Given the description of an element on the screen output the (x, y) to click on. 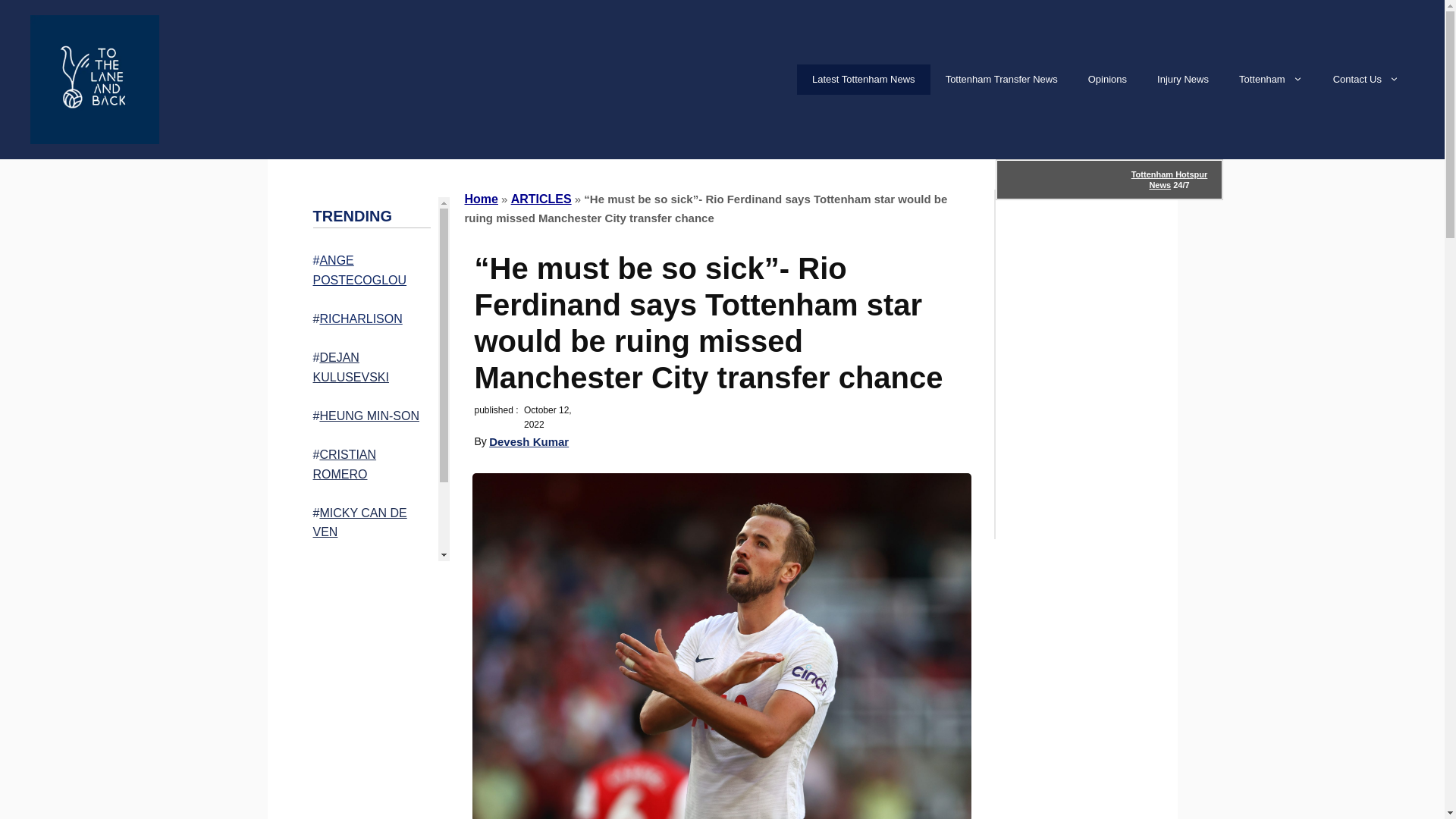
ANGE POSTECOGLOU (359, 269)
Tottenham Transfer News (1001, 79)
RICHARLISON (359, 318)
ARTICLES (541, 198)
Click here for more Tottenham Hotspur news from NewsNow (1108, 178)
DEJAN KULUSEVSKI (350, 367)
HEUNG MIN-SON (368, 415)
Home (480, 198)
MICKY CAN DE VEN (359, 522)
ARCHIE GRAY (366, 611)
Latest Tottenham News (863, 79)
RADU DRAGUSIN (369, 570)
Devesh Kumar (529, 440)
Tottenham (1270, 79)
Tottenham Hotspur News (1169, 179)
